Given the description of an element on the screen output the (x, y) to click on. 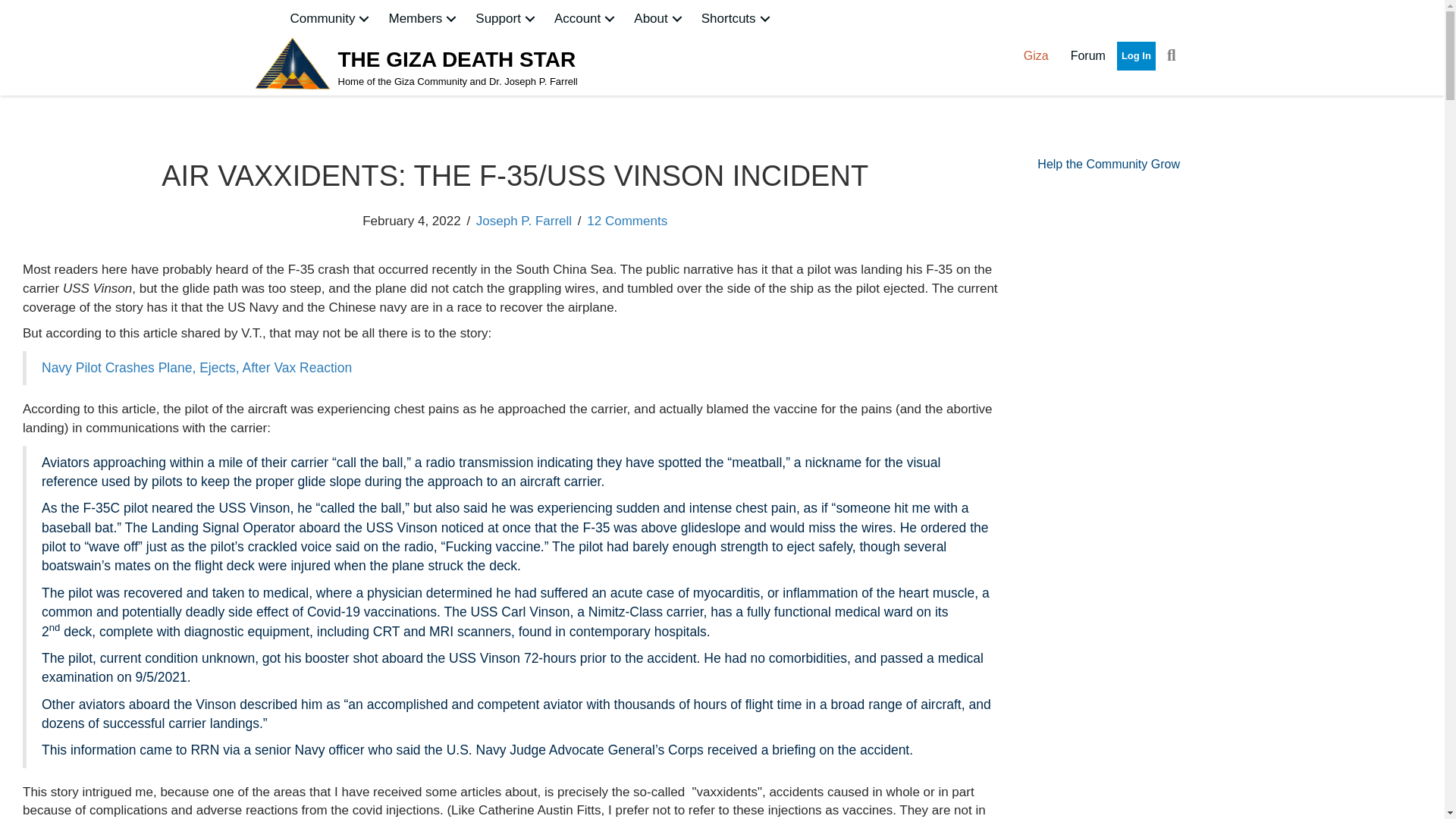
Account (586, 19)
About (659, 19)
Community (331, 19)
Members (423, 19)
Support (507, 19)
